Given the description of an element on the screen output the (x, y) to click on. 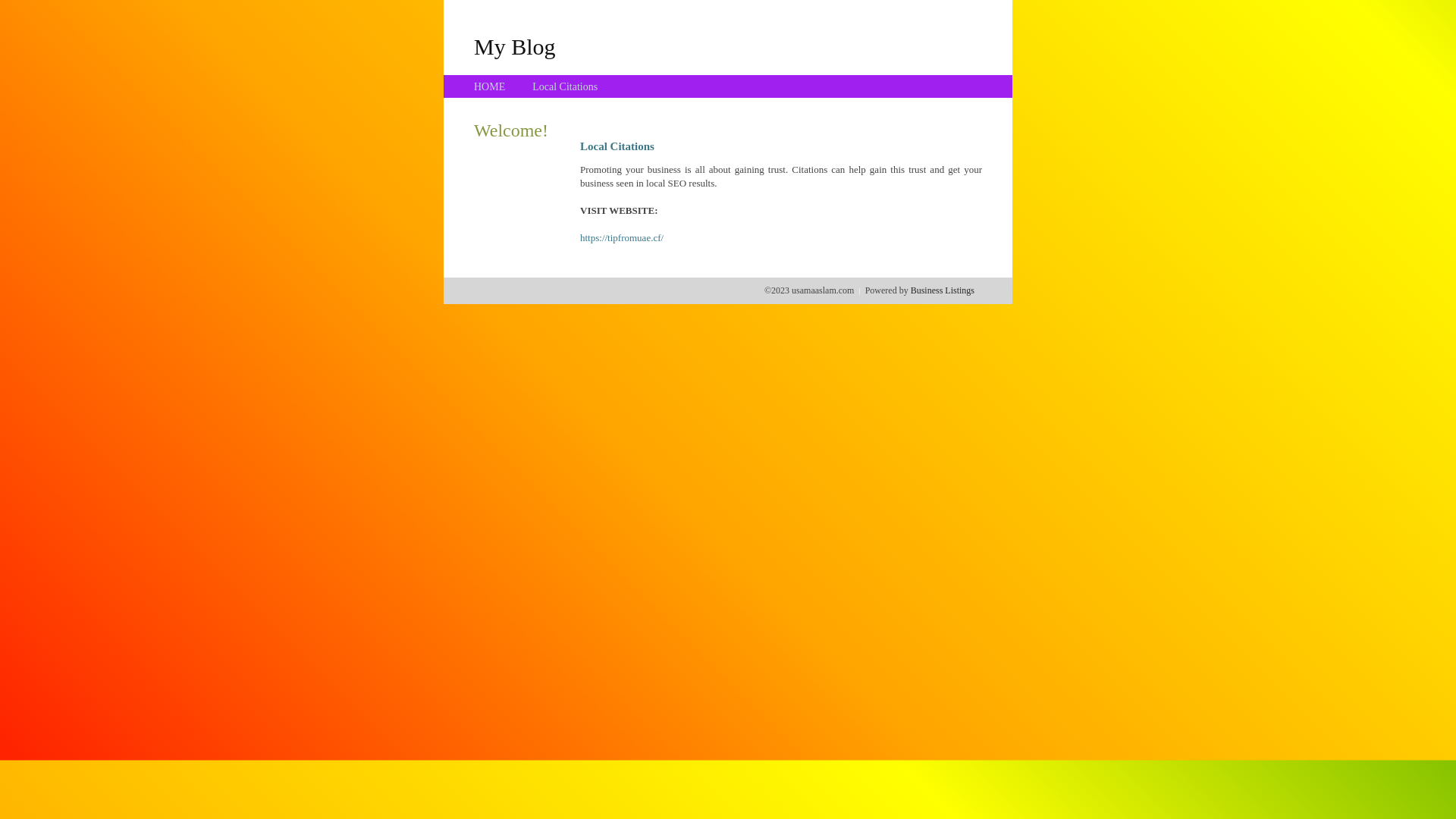
Local Citations Element type: text (564, 86)
Business Listings Element type: text (942, 290)
My Blog Element type: text (514, 46)
HOME Element type: text (489, 86)
https://tipfromuae.cf/ Element type: text (621, 237)
